Given the description of an element on the screen output the (x, y) to click on. 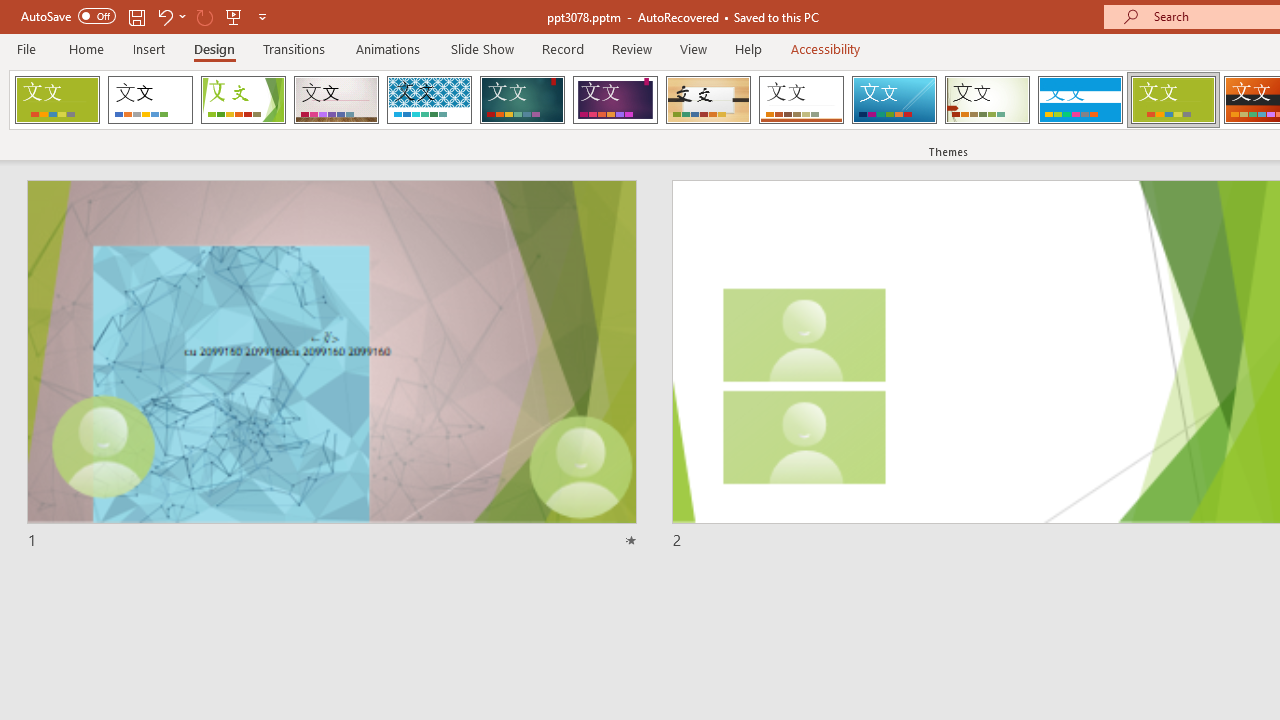
Banded (1080, 100)
Wisp (987, 100)
Ion Boardroom (615, 100)
